Given the description of an element on the screen output the (x, y) to click on. 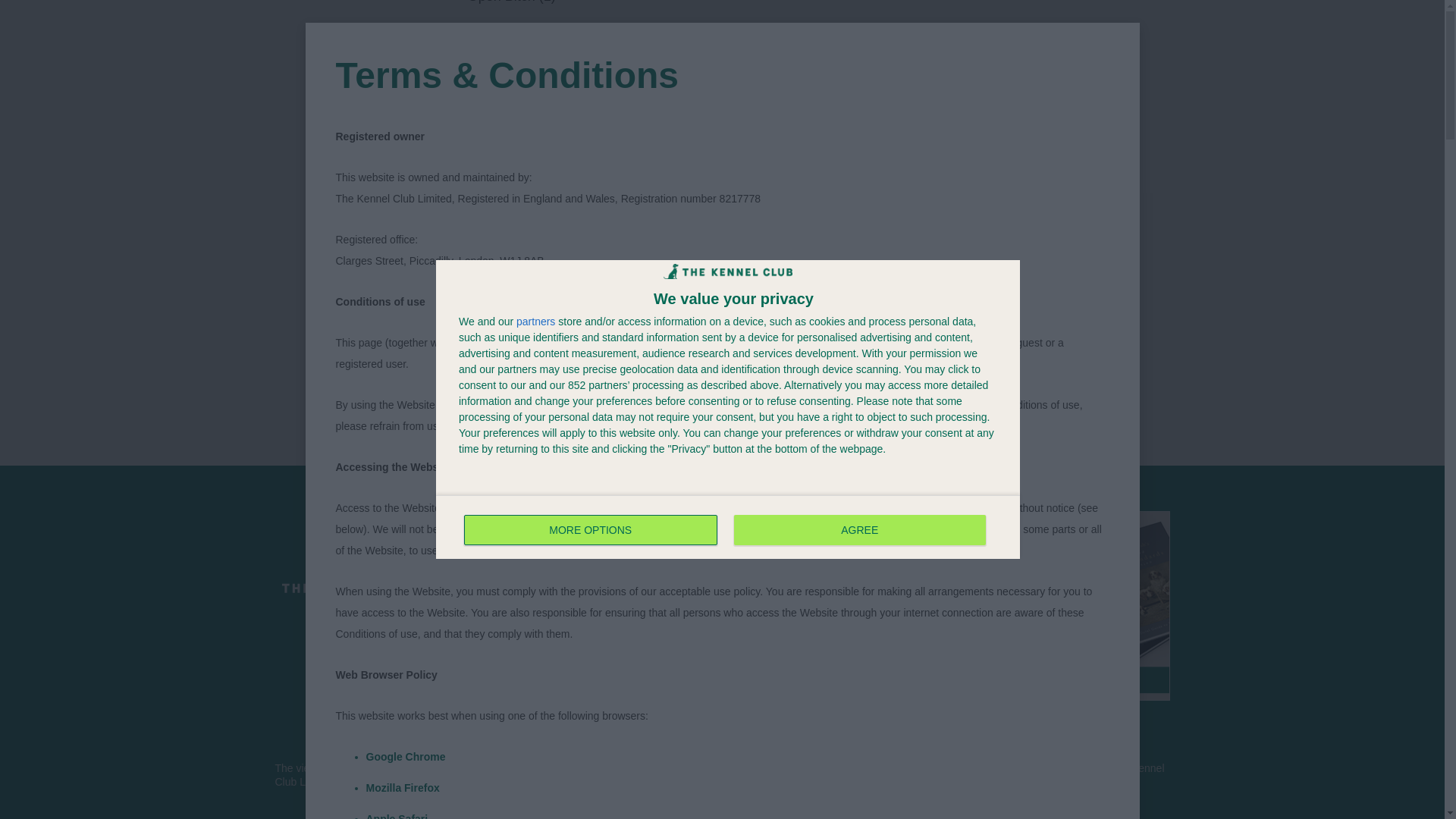
Privacy Policy (644, 663)
